Given the description of an element on the screen output the (x, y) to click on. 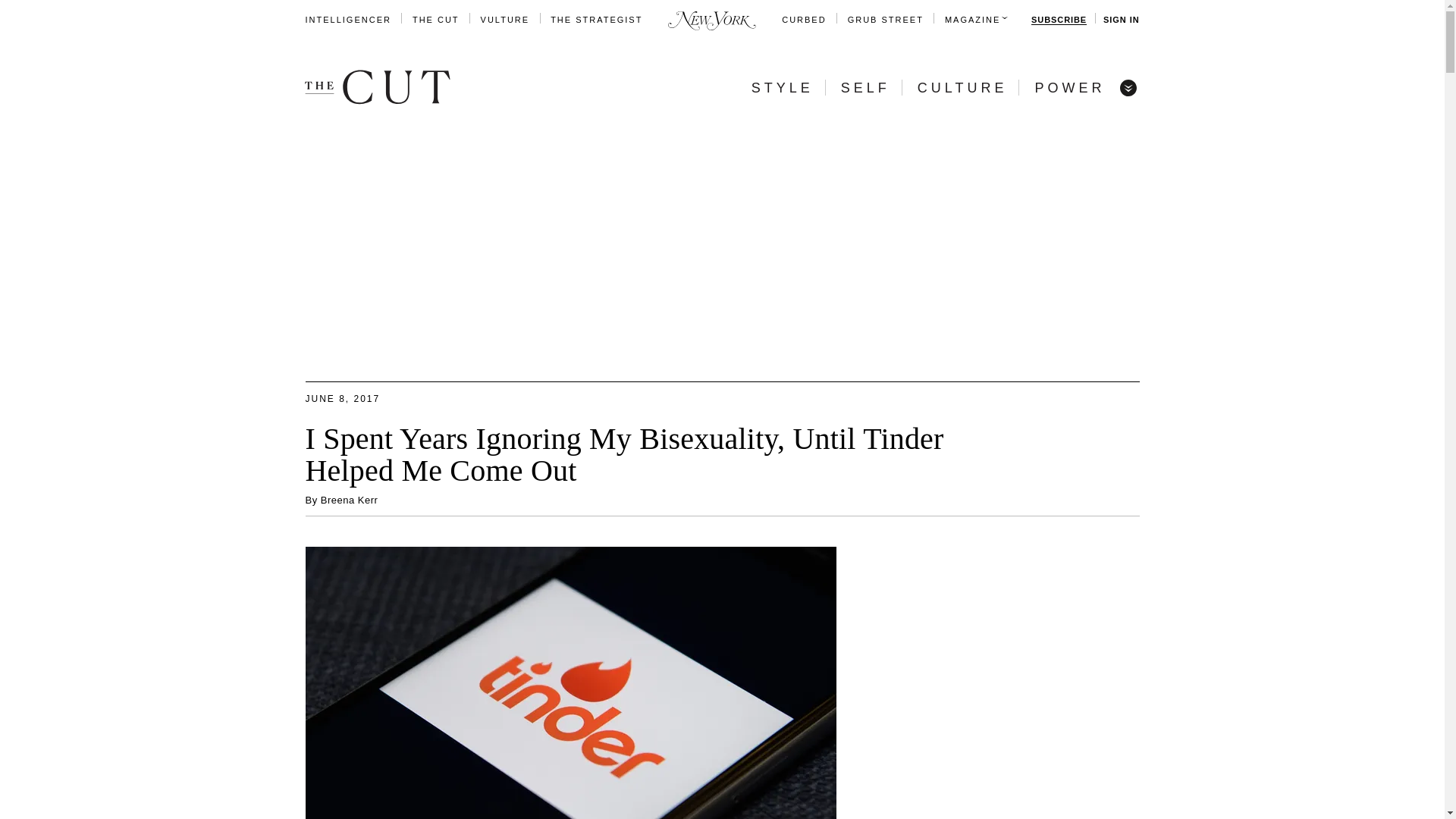
STYLE (782, 87)
SIGN IN (1120, 19)
SUBSCRIBE (1058, 19)
SELF (865, 87)
INTELLIGENCER (347, 19)
CULTURE (962, 87)
VULTURE (504, 19)
GRUB STREET (885, 19)
Menu (1127, 87)
CURBED (803, 19)
